Given the description of an element on the screen output the (x, y) to click on. 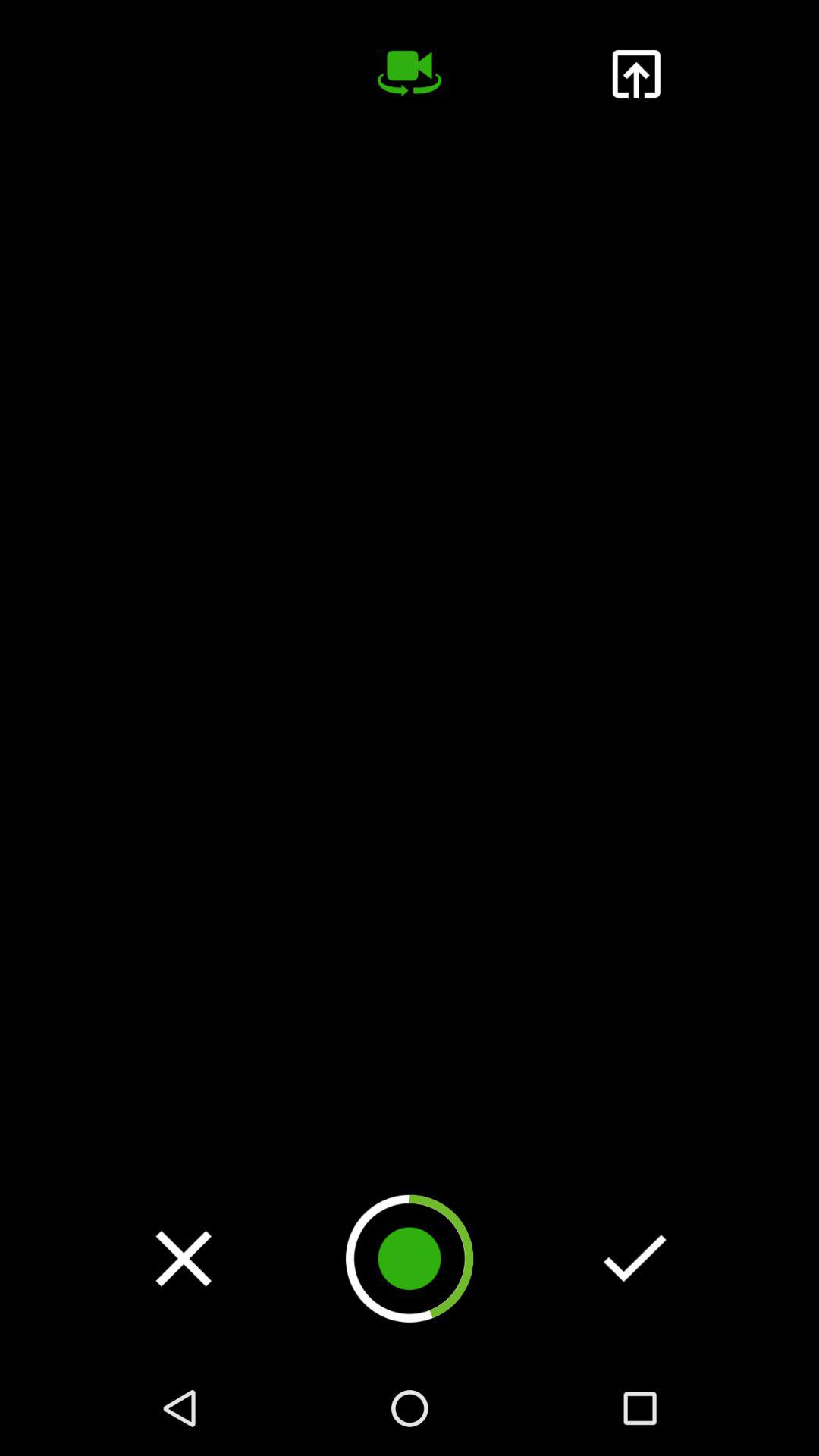
accept (634, 1258)
